Given the description of an element on the screen output the (x, y) to click on. 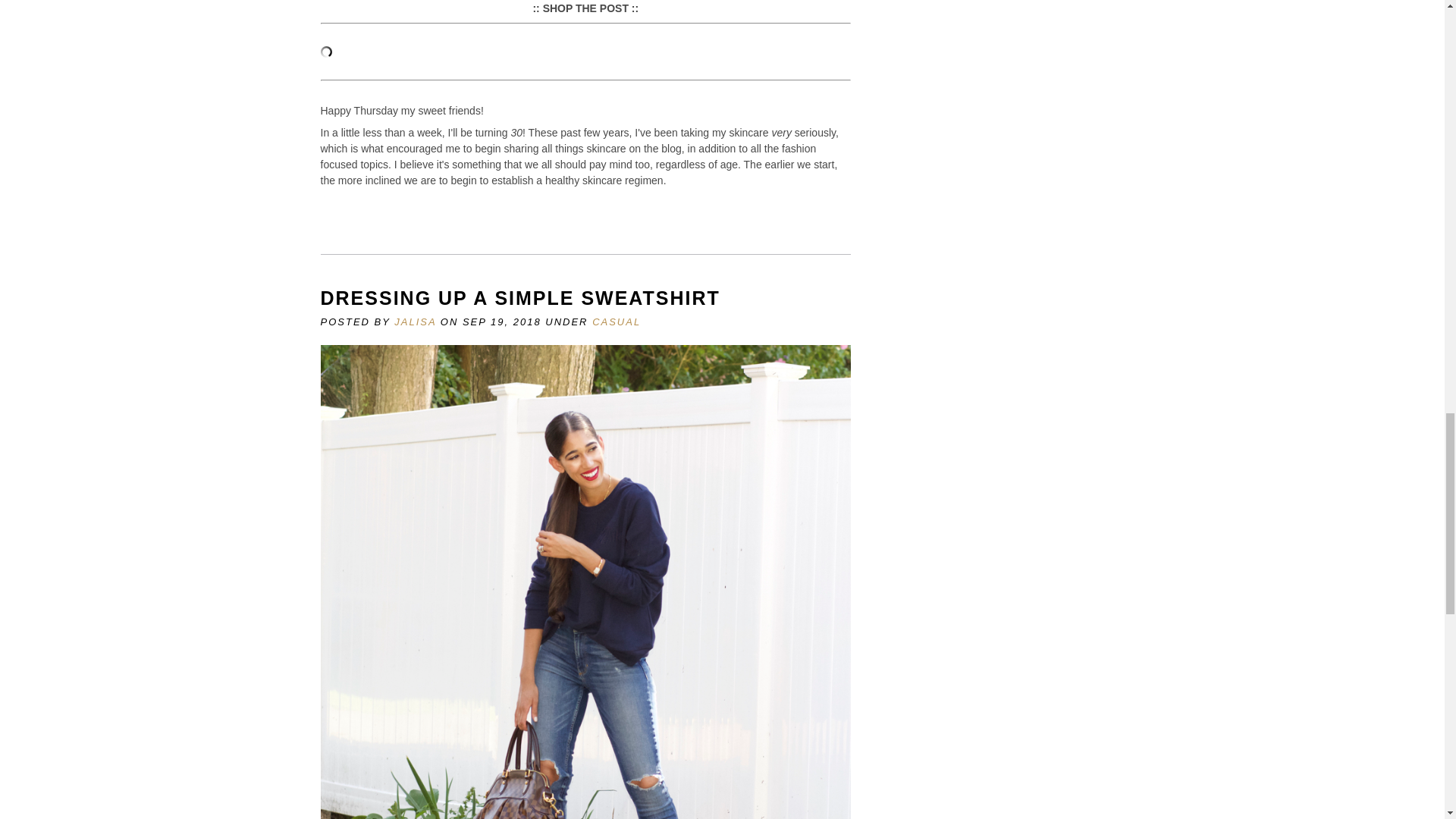
DRESSING UP A SIMPLE SWEATSHIRT (519, 297)
CASUAL (616, 321)
Views posts by Category Casual (616, 321)
JALISA (414, 321)
